Given the description of an element on the screen output the (x, y) to click on. 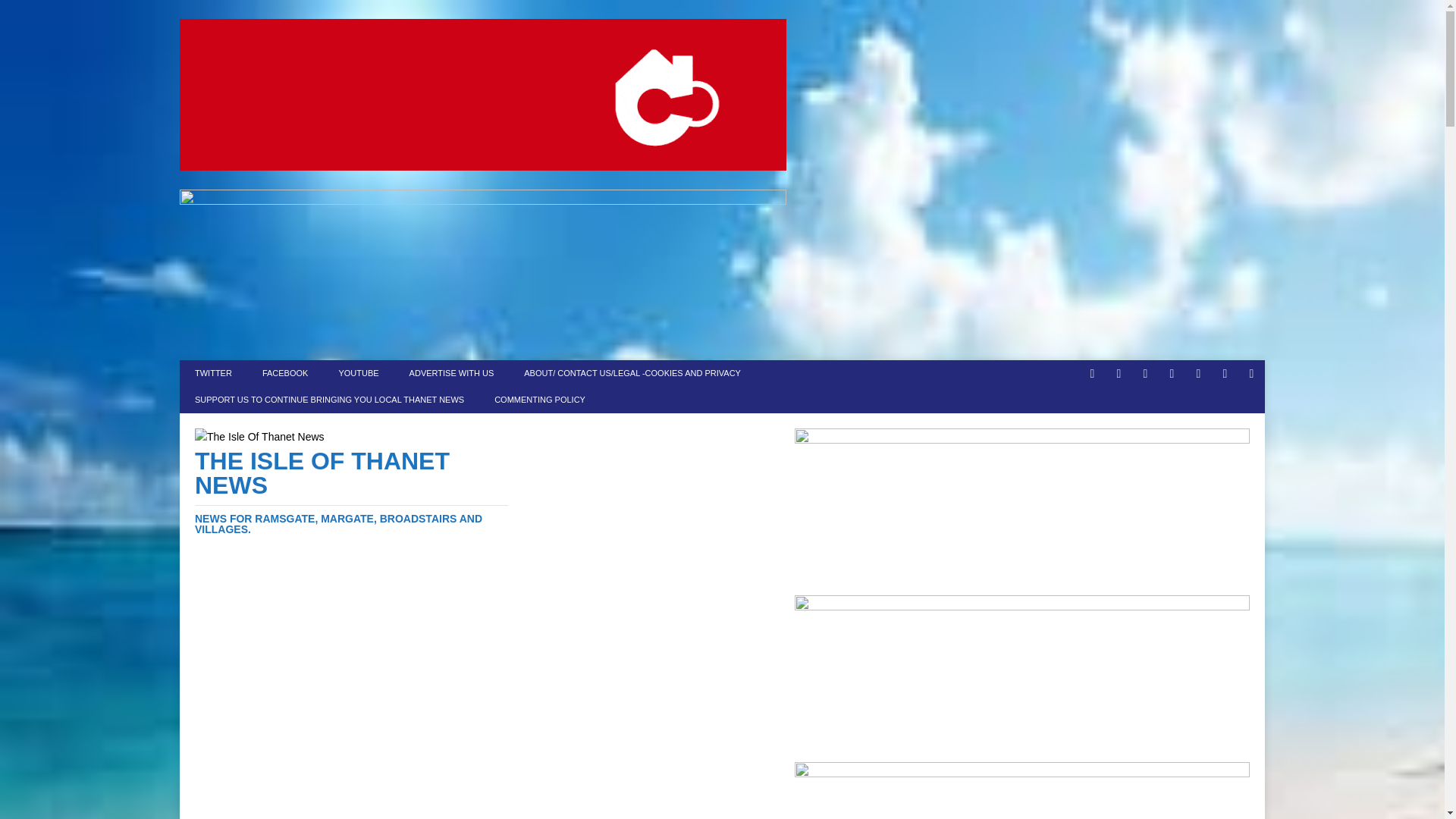
SUPPORT US TO CONTINUE BRINGING YOU LOCAL THANET NEWS (329, 399)
COMMENTING POLICY (539, 399)
FACEBOOK (285, 373)
TWITTER (213, 373)
The Isle Of Thanet News (351, 491)
ADVERTISE WITH US (451, 373)
YOUTUBE (358, 373)
